Given the description of an element on the screen output the (x, y) to click on. 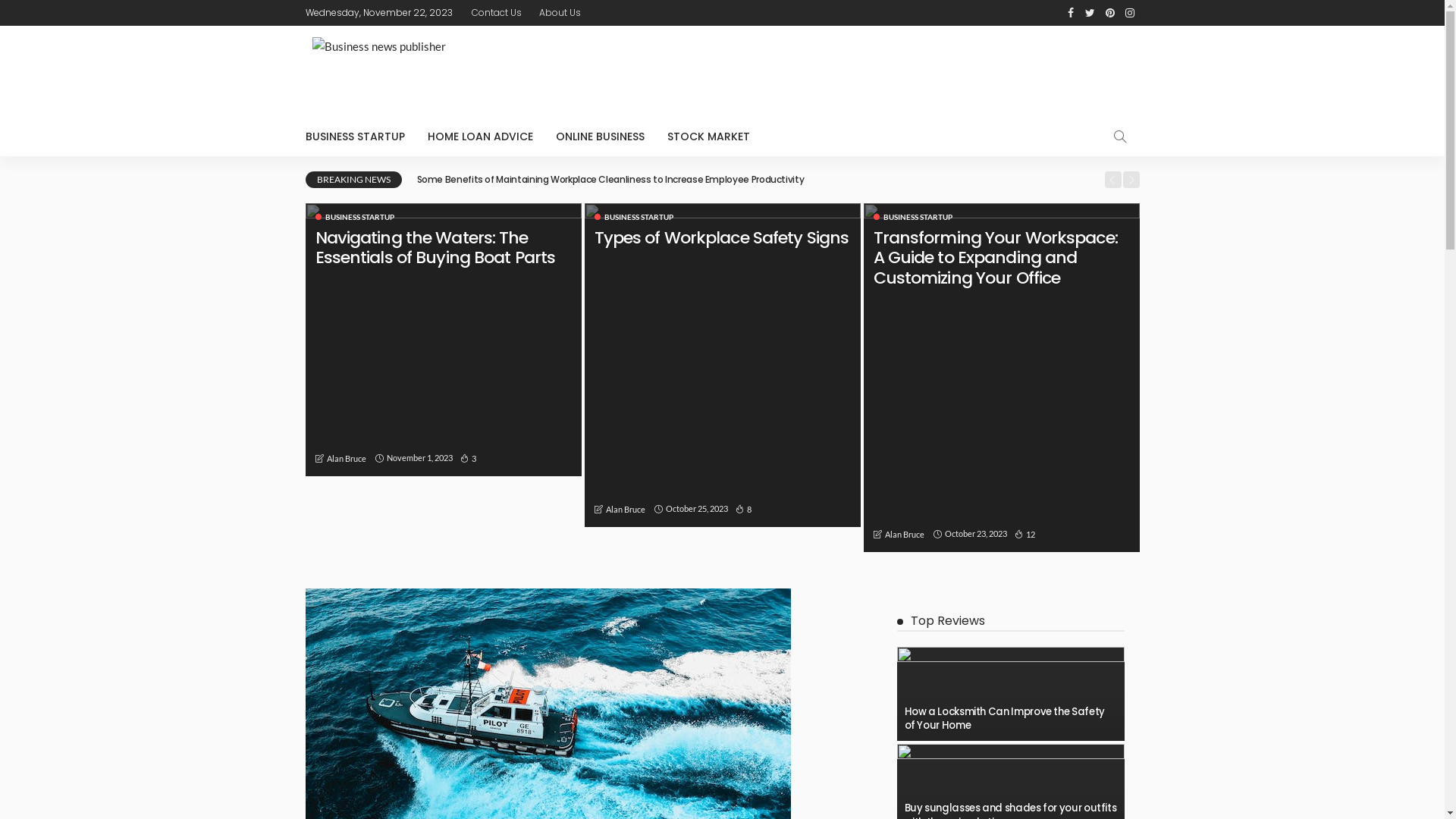
Alan Bruce Element type: text (903, 534)
HOME LOAN ADVICE Element type: text (479, 136)
Types of Workplace Safety Signs Element type: hover (721, 365)
How a Locksmith Can Improve the Safety of Your Home Element type: text (1003, 718)
Types of Workplace Safety Signs Element type: text (721, 237)
3 Element type: text (467, 458)
Navigating the Waters: The Essentials of Buying Boat Parts Element type: hover (442, 339)
How a Locksmith Can Improve the Safety of Your Home Element type: hover (1009, 693)
Navigating the Waters: The Essentials of Buying Boat Parts Element type: text (435, 247)
Contact Us Element type: text (496, 12)
BUSINESS STARTUP Element type: text (359, 136)
BUSINESS STARTUP Element type: text (912, 216)
8 Element type: text (743, 509)
STOCK MARKET Element type: text (707, 136)
BUSINESS STARTUP Element type: text (354, 216)
Alan Bruce Element type: text (345, 458)
ONLINE BUSINESS Element type: text (599, 136)
12 Element type: text (1024, 534)
search Element type: hover (1119, 136)
BUSINESS STARTUP Element type: text (633, 216)
Alan Bruce Element type: text (624, 509)
About Us Element type: text (558, 12)
